Given the description of an element on the screen output the (x, y) to click on. 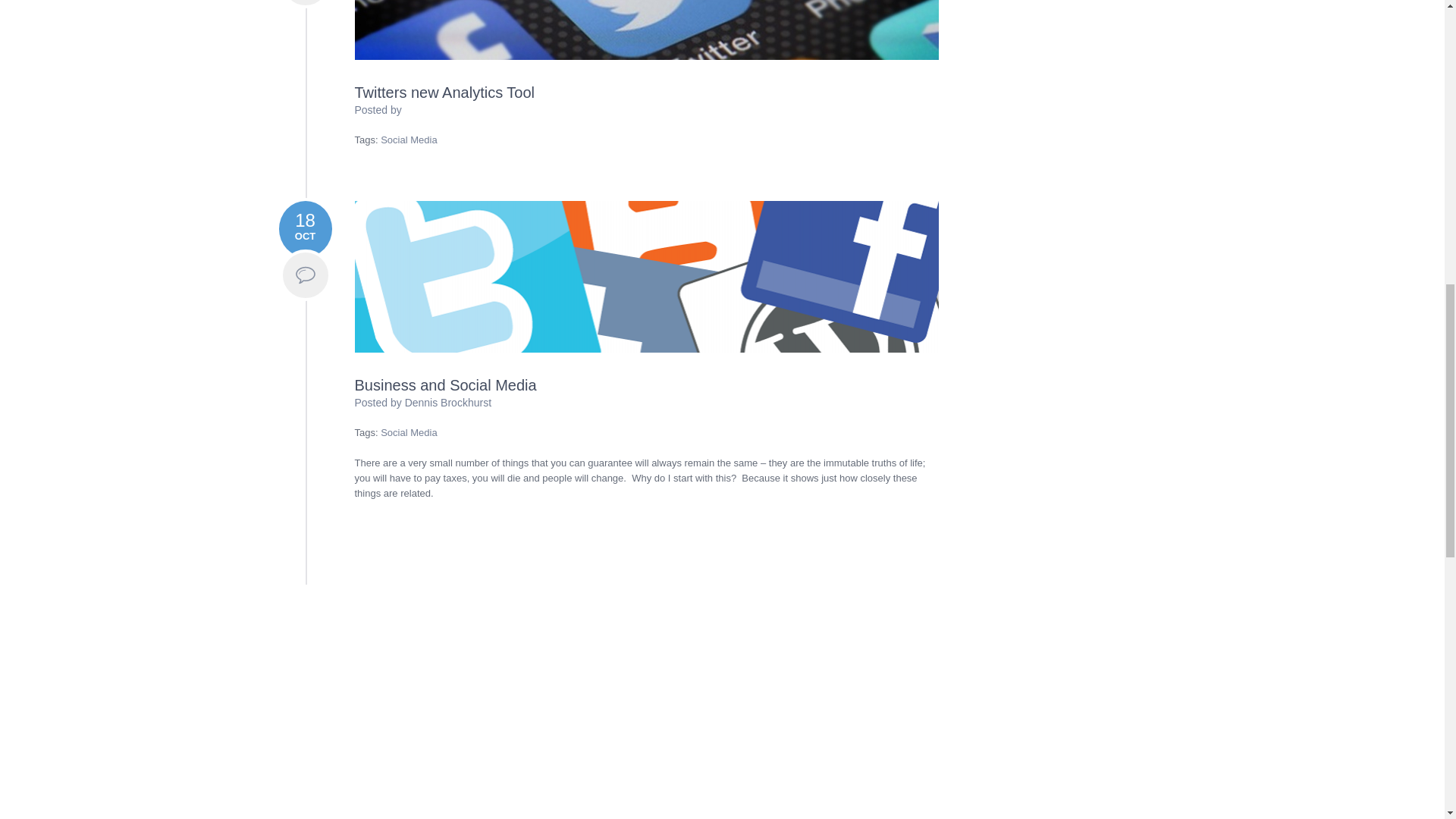
Social Media (408, 432)
More about Social Media (305, 275)
More about Social Media (305, 4)
Twitters new Analytics Tool (445, 92)
Business and Social Media (446, 384)
View all posts tagged 'Social Media' (408, 432)
Business and Social Media (647, 275)
Social Media (408, 139)
Twitters new Analytics Tool (445, 92)
Business and Social Media (446, 384)
View all posts tagged 'Social Media' (408, 139)
